Given the description of an element on the screen output the (x, y) to click on. 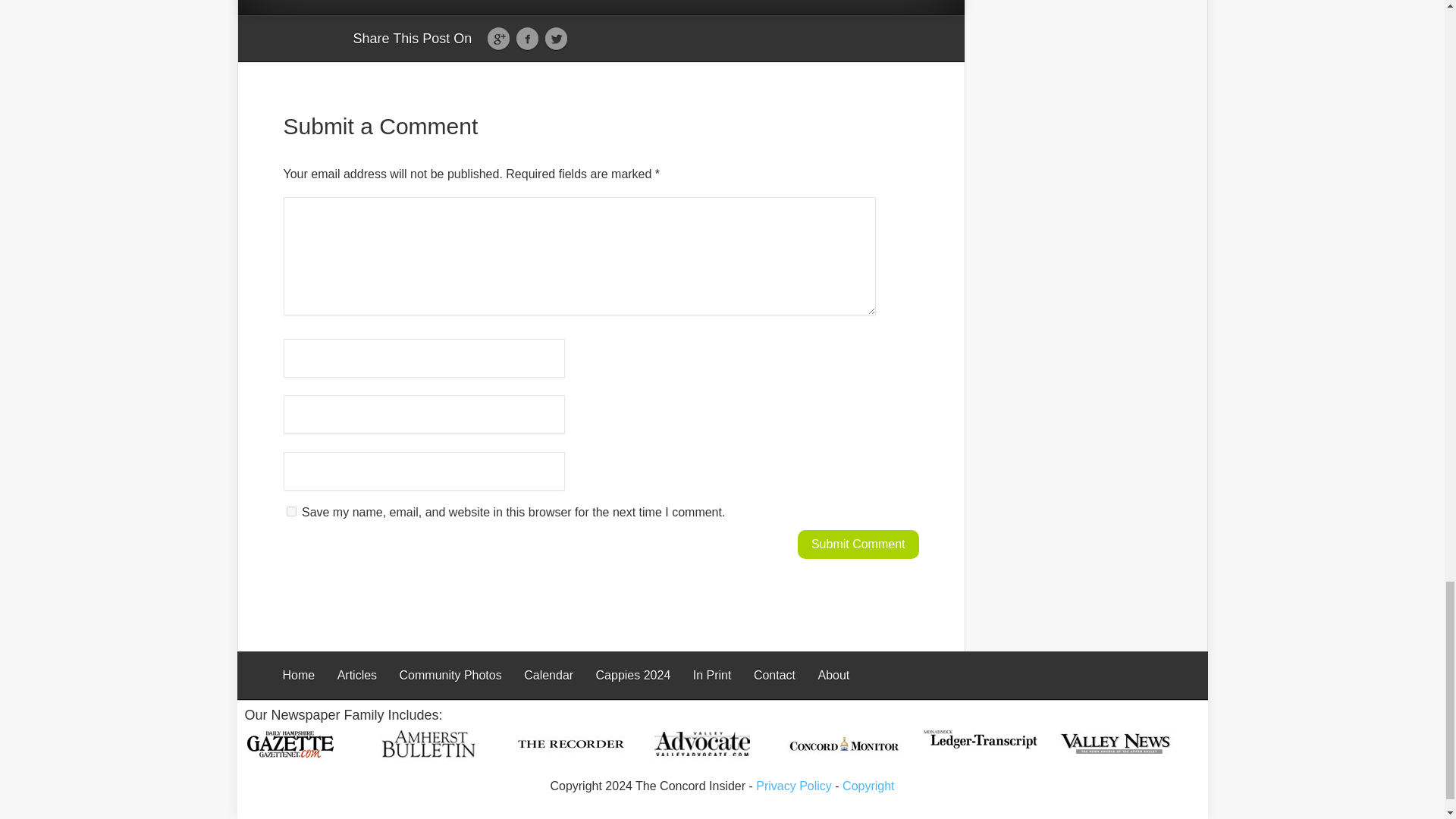
yes (291, 511)
Submit Comment (857, 543)
